Given the description of an element on the screen output the (x, y) to click on. 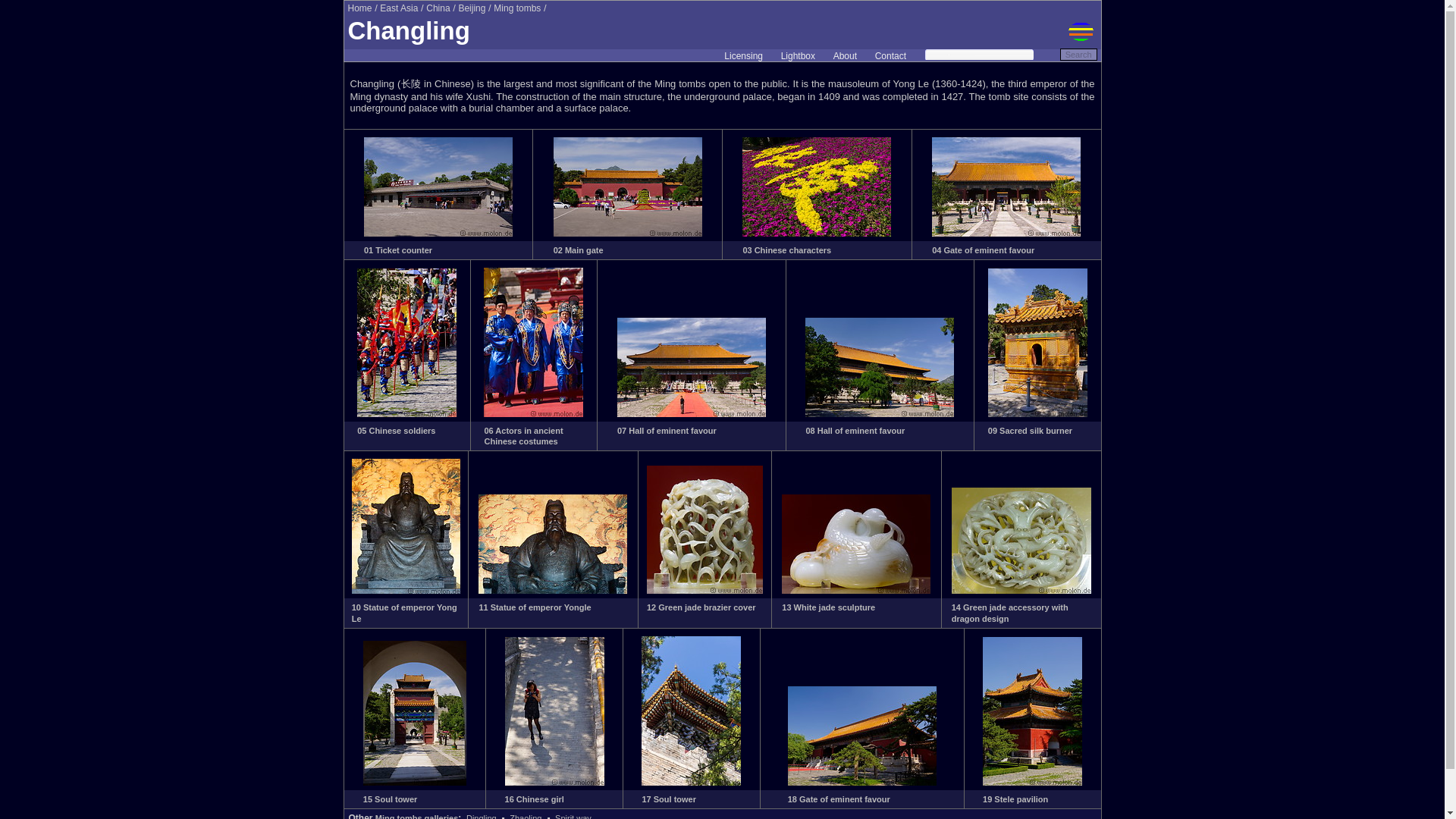
10 Statue of emperor Yong Le (404, 612)
03 Chinese characters (786, 249)
Image CH71862 - click to enlarge (704, 590)
Image CH71854 - click to enlarge (1005, 233)
About this site (844, 55)
Information on how to license images (743, 55)
Image CH71865 - click to enlarge (413, 782)
Image CH71852 - click to enlarge (627, 233)
Contact (890, 55)
Image CH71851 - click to enlarge (438, 233)
